Given the description of an element on the screen output the (x, y) to click on. 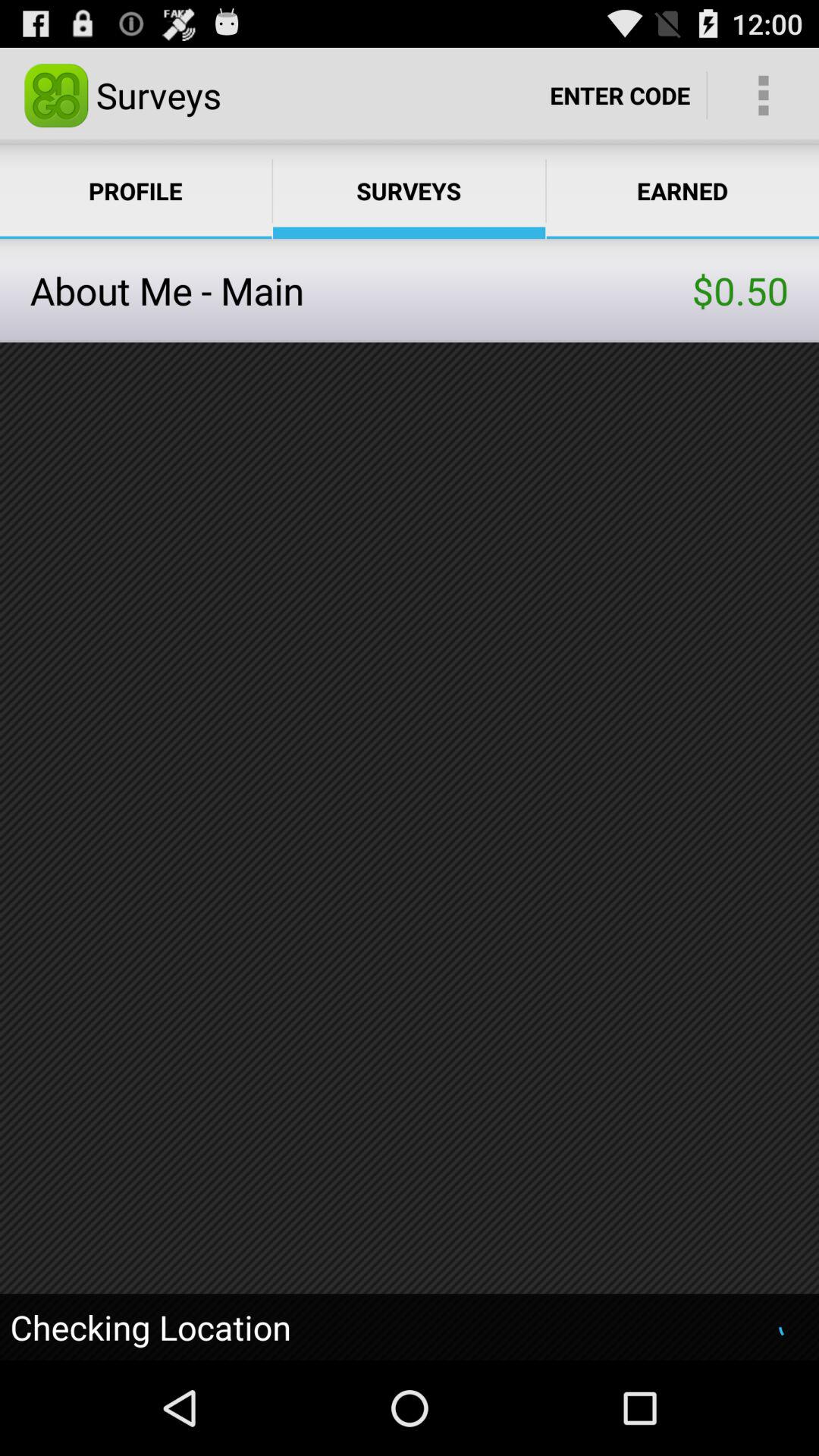
press the about me - main (361, 290)
